Given the description of an element on the screen output the (x, y) to click on. 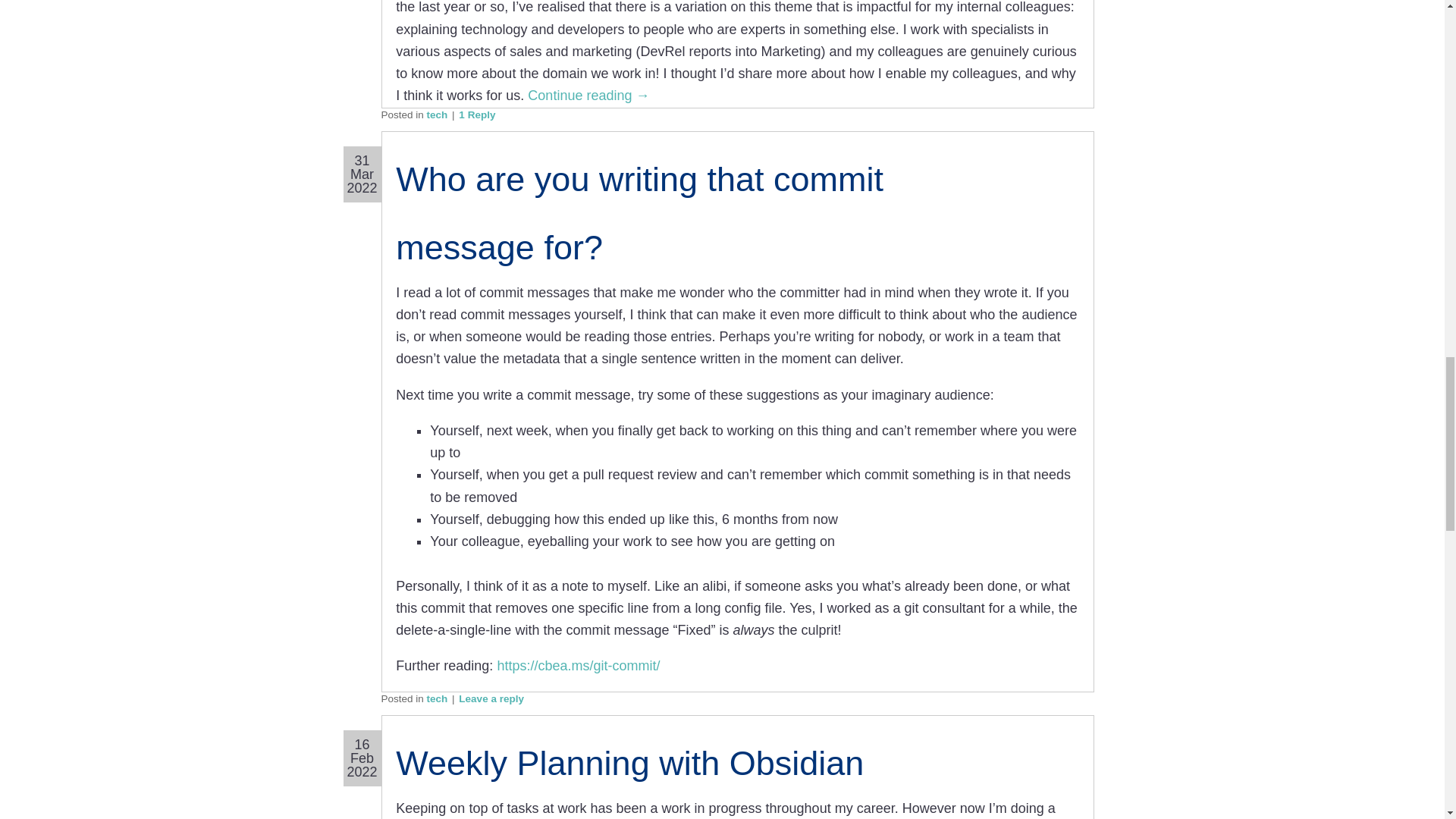
Permalink to Weekly Planning with Obsidian (629, 762)
Permalink to Who are you writing that commit message for? (639, 212)
